Given the description of an element on the screen output the (x, y) to click on. 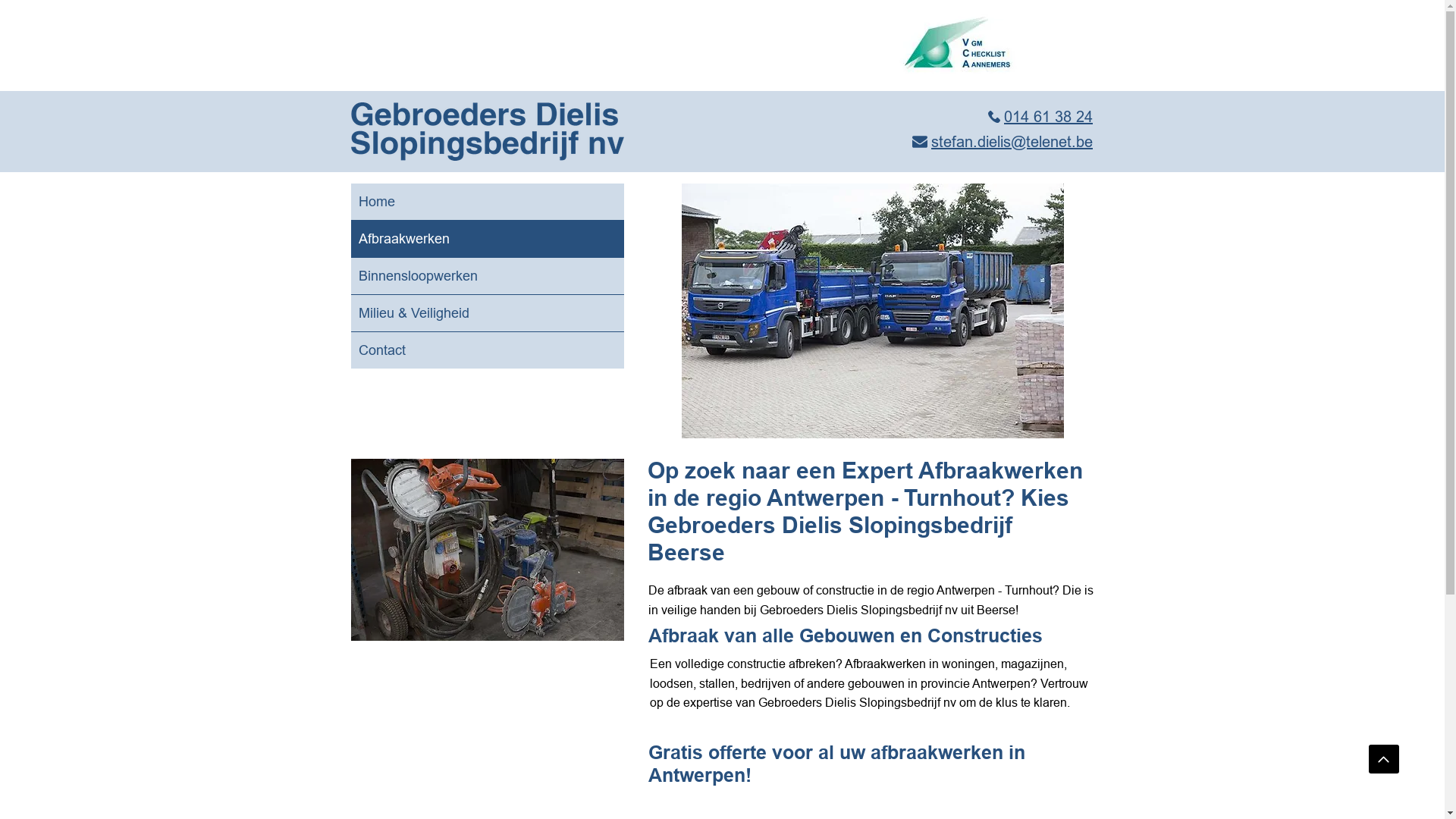
Afbraakwerken Element type: text (486, 238)
Contact Element type: text (486, 350)
Home Element type: text (486, 201)
Milieu & Veiligheid Element type: text (486, 312)
Binnensloopwerken Element type: text (486, 275)
014 61 38 24 Element type: text (1040, 116)
stefan.dielis@telenet.be Element type: text (1002, 141)
